Given the description of an element on the screen output the (x, y) to click on. 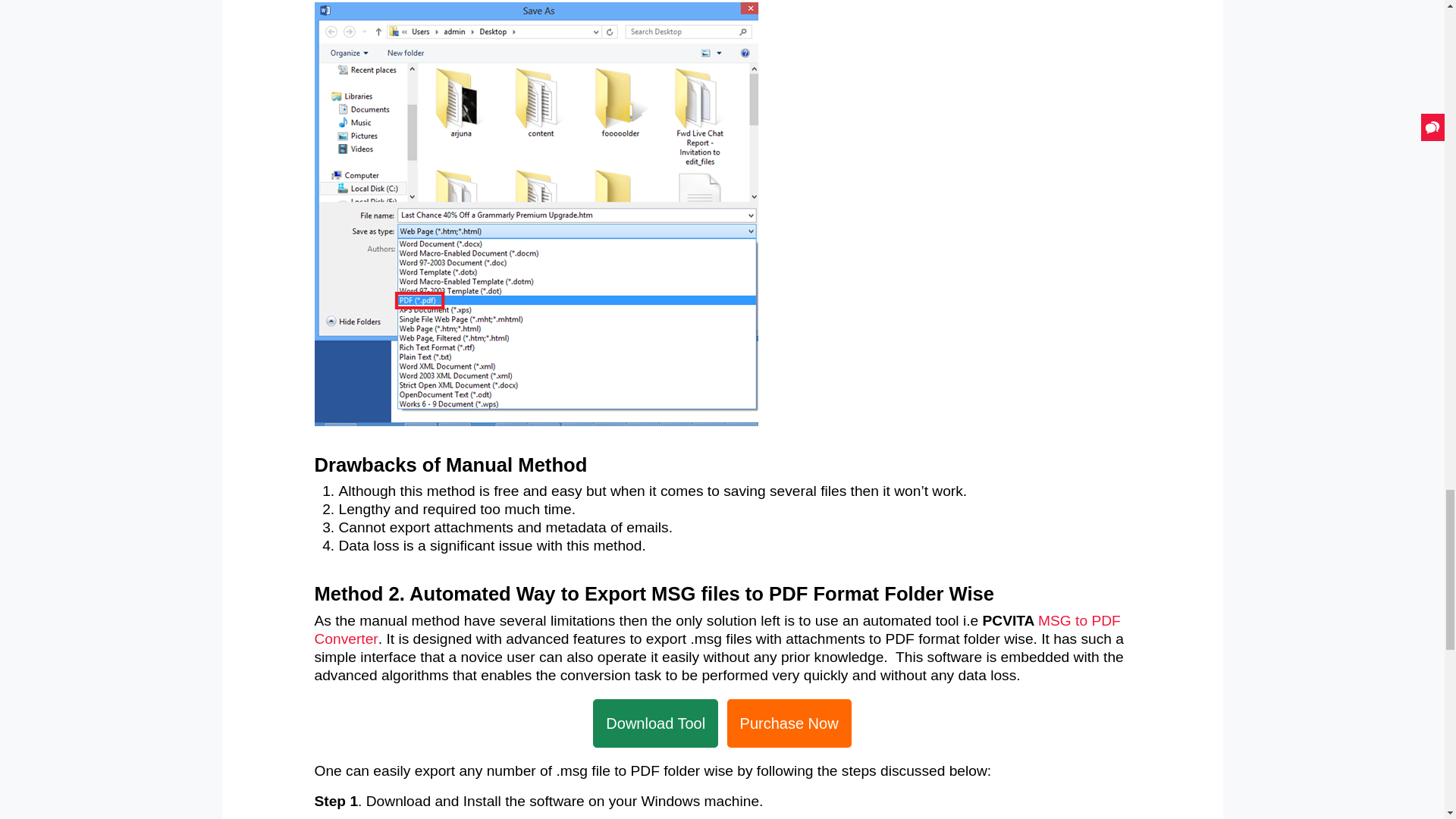
Download Tool (654, 723)
MSG to PDF Converter (716, 629)
Purchase Now (788, 723)
